Given the description of an element on the screen output the (x, y) to click on. 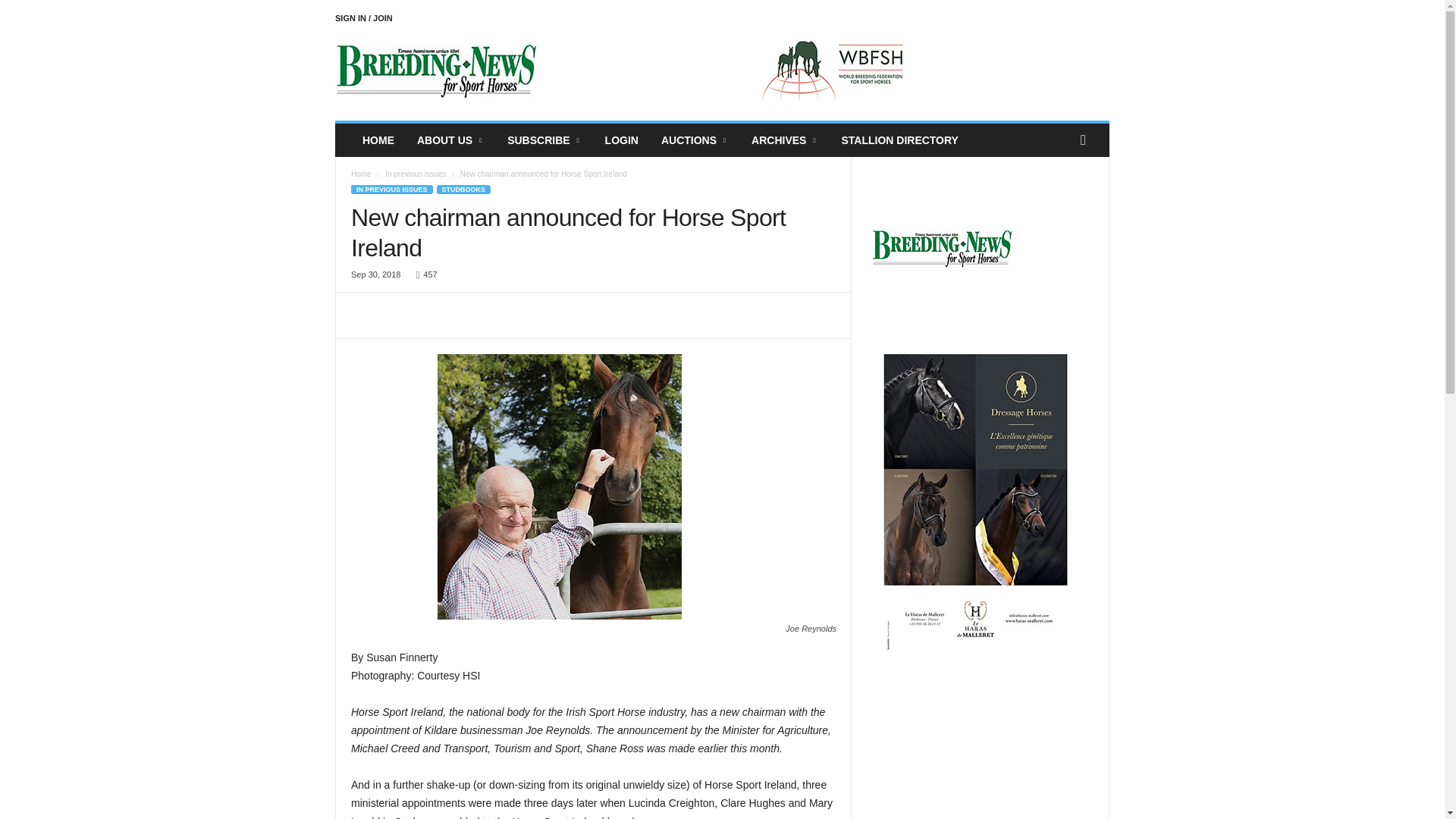
ABOUT US (451, 140)
View all posts in In previous issues (415, 173)
JoeReynolds (559, 486)
Breeding News for Sport Horses (437, 70)
HOME (378, 140)
SUBSCRIBE (544, 140)
